Given the description of an element on the screen output the (x, y) to click on. 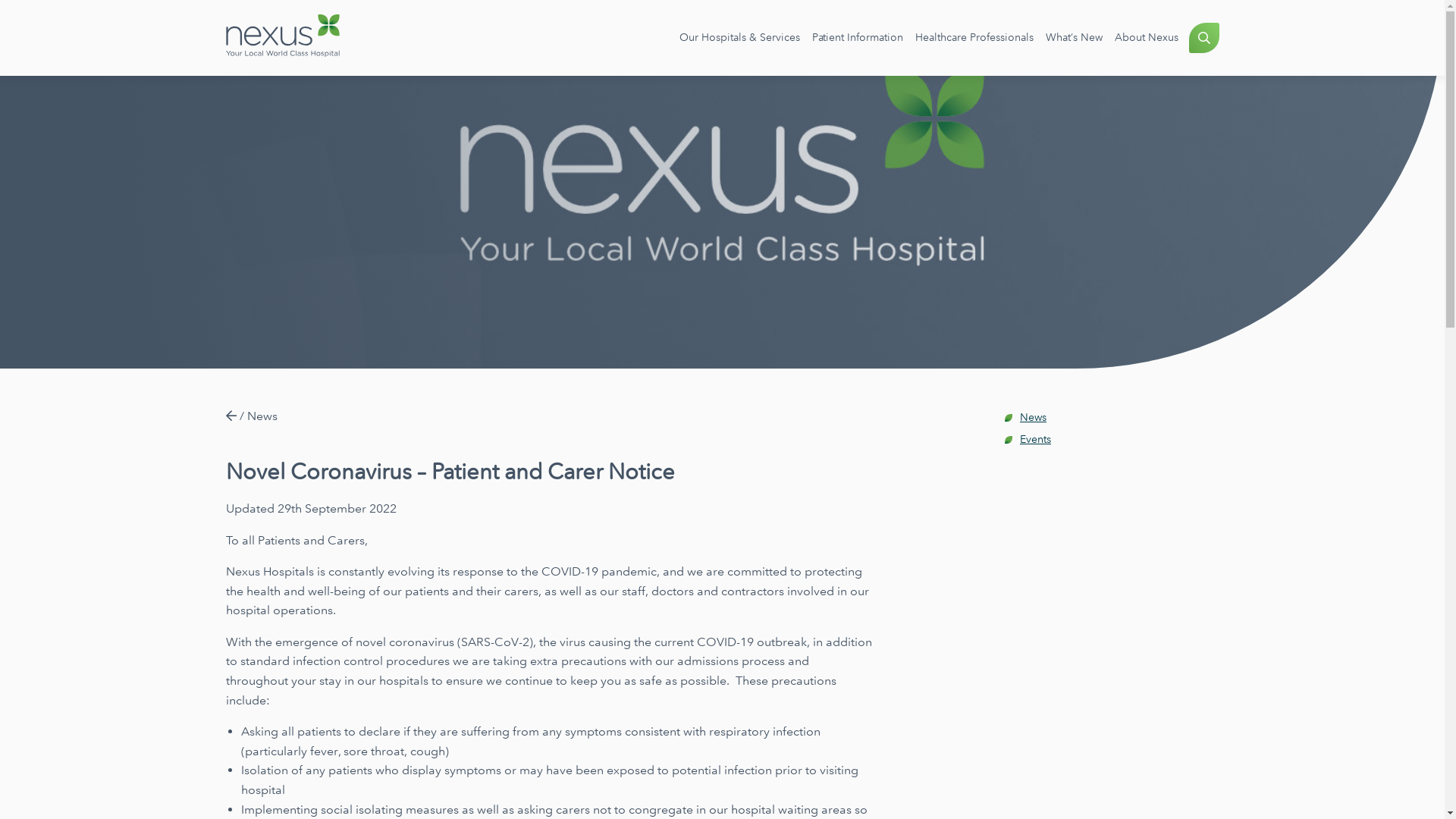
Events Element type: text (1111, 439)
Our Hospitals & Services Element type: text (739, 37)
News Element type: text (262, 415)
Healthcare Professionals Element type: text (973, 37)
News Element type: text (1111, 417)
Patient Information Element type: text (856, 37)
About Nexus Element type: text (1146, 37)
